Given the description of an element on the screen output the (x, y) to click on. 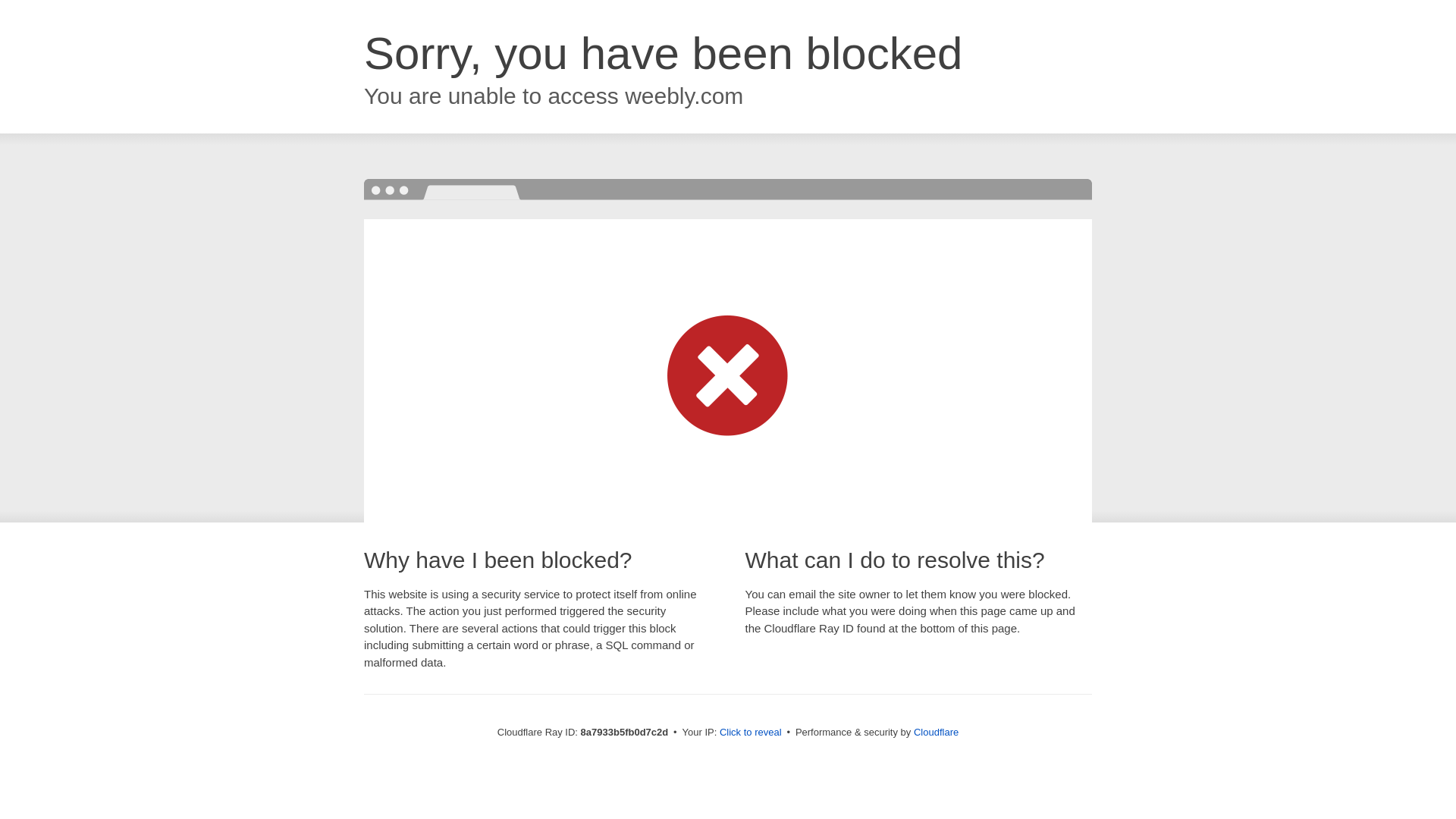
Click to reveal (750, 732)
Cloudflare (936, 731)
